Given the description of an element on the screen output the (x, y) to click on. 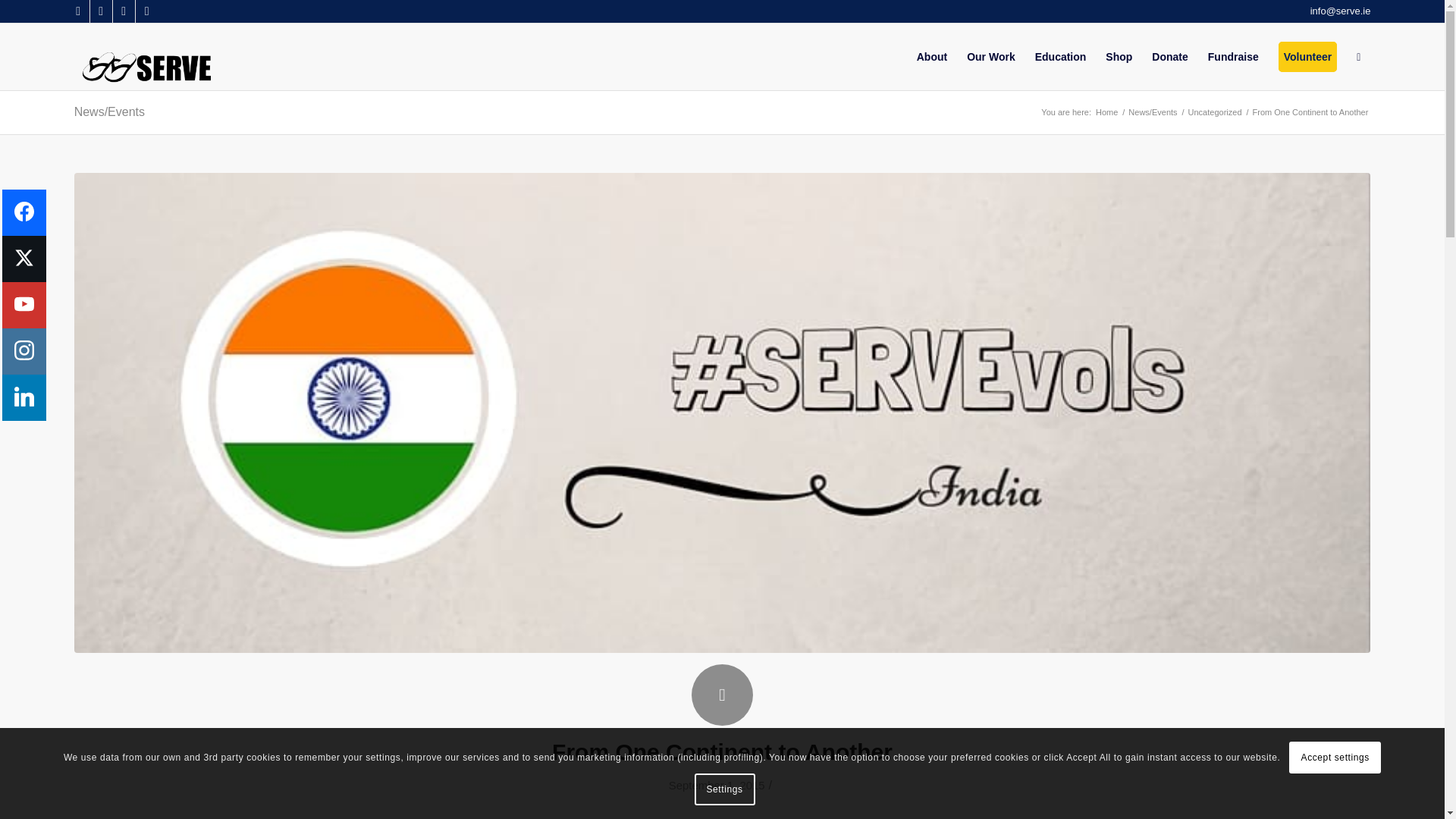
SERVE (1106, 112)
Our Work (990, 56)
Twitter (101, 11)
Facebook (77, 11)
Education (1060, 56)
Instagram (146, 11)
Youtube (124, 11)
